Given the description of an element on the screen output the (x, y) to click on. 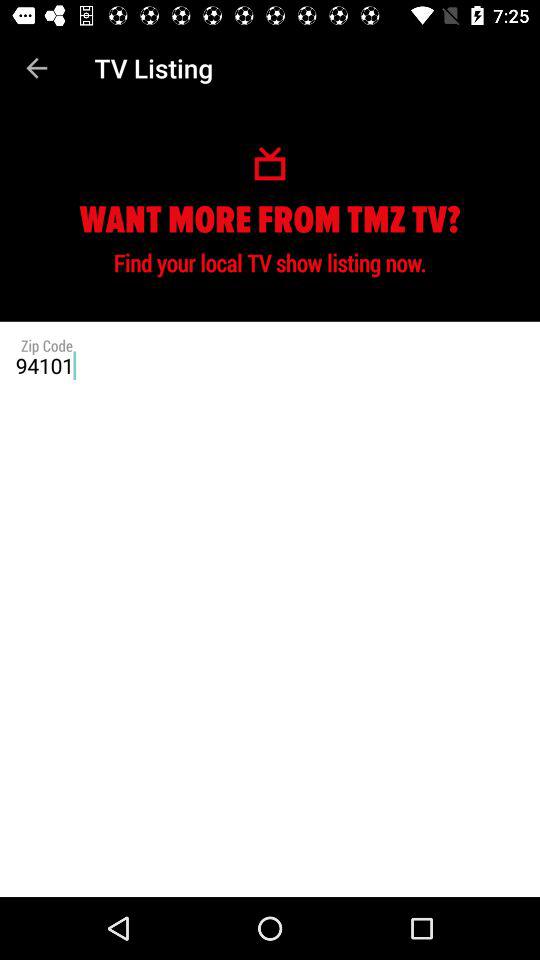
tap icon to the left of the tv listing icon (36, 68)
